Given the description of an element on the screen output the (x, y) to click on. 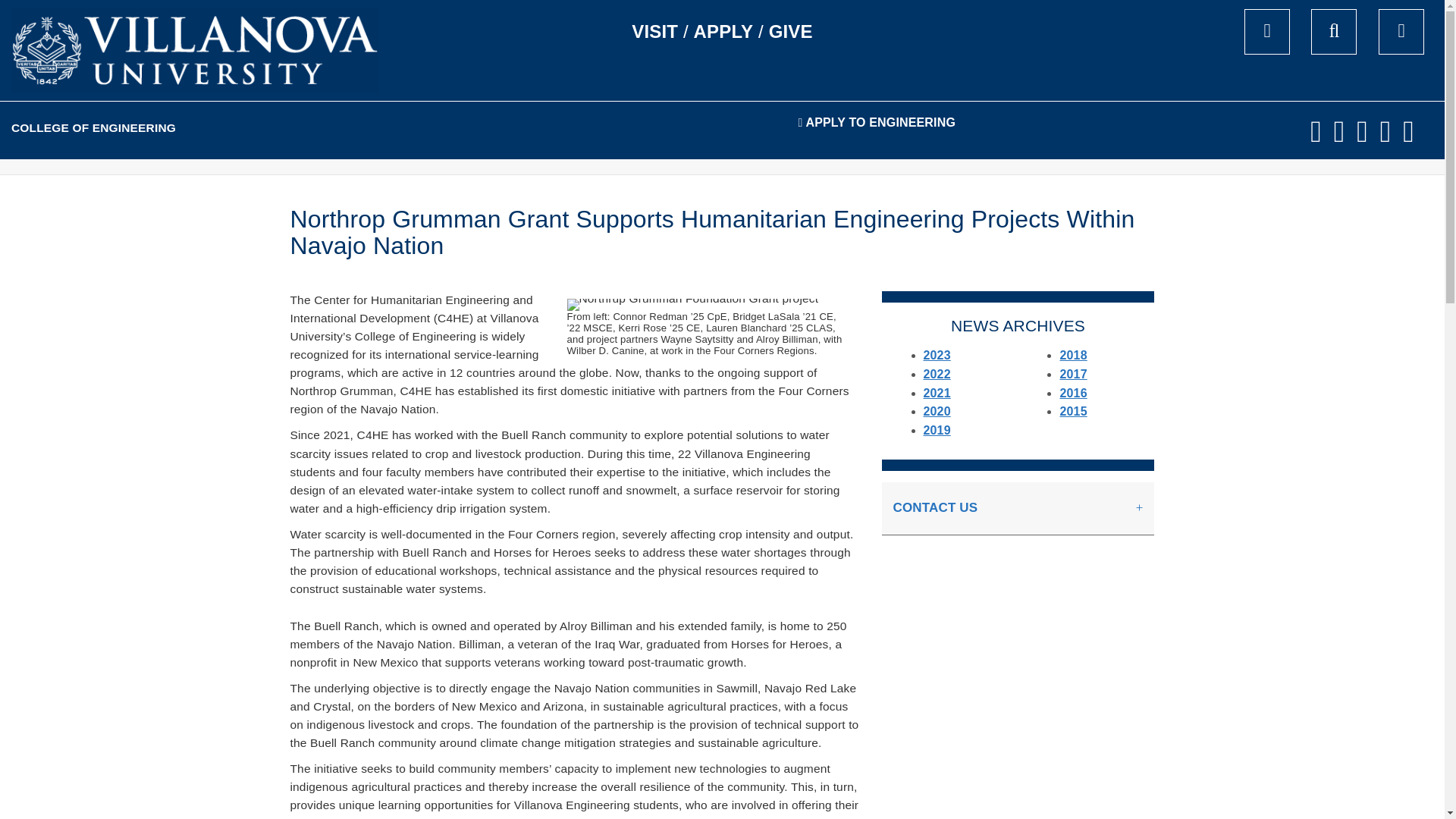
GIVE (790, 31)
link to 2023 news (936, 354)
VISIT (654, 31)
link to 2022 news (936, 373)
northrop-grumman-1 (692, 304)
APPLY (724, 31)
